Given the description of an element on the screen output the (x, y) to click on. 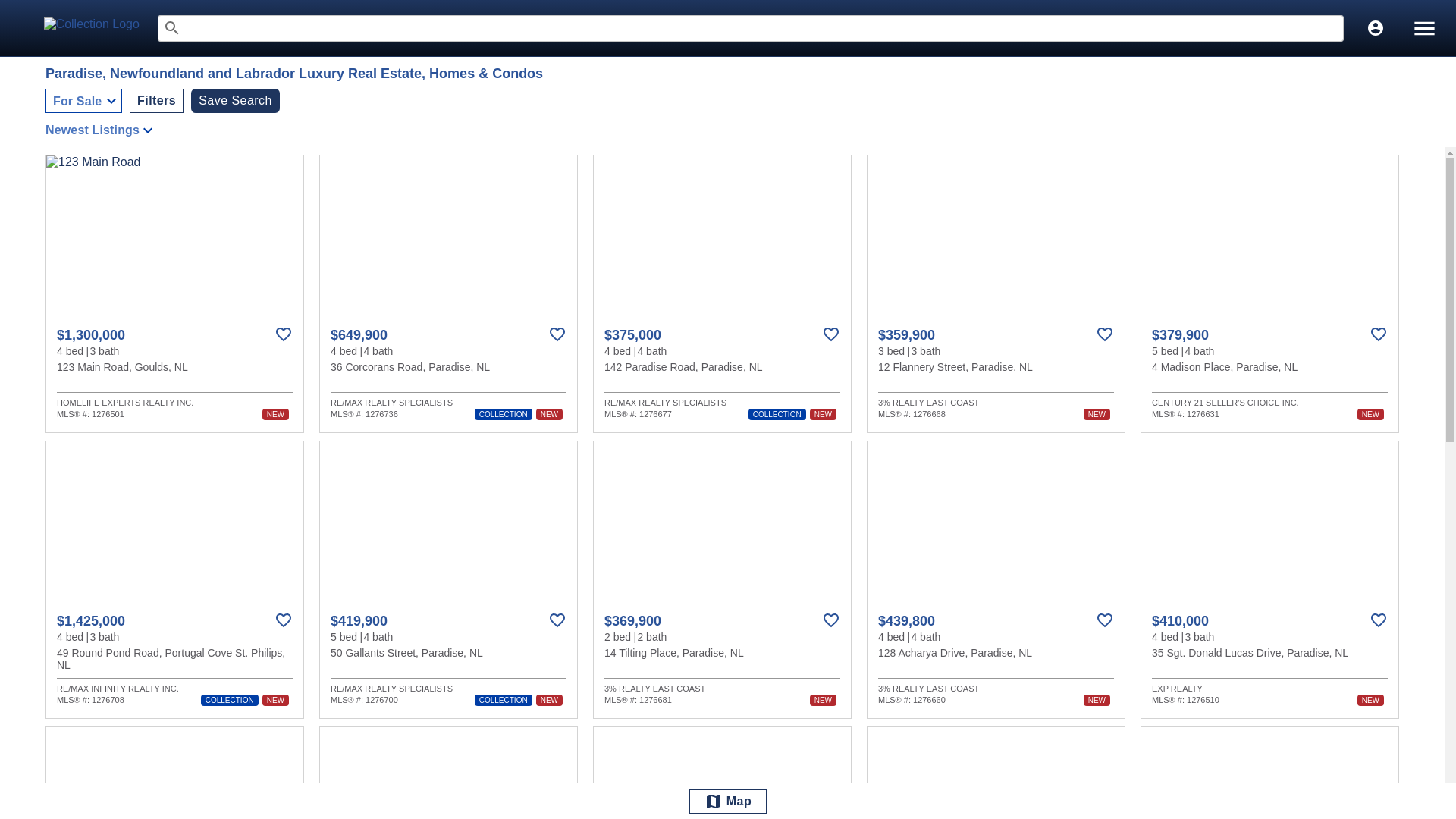
Collection (100, 27)
Save Search (234, 100)
Filters (156, 100)
